Given the description of an element on the screen output the (x, y) to click on. 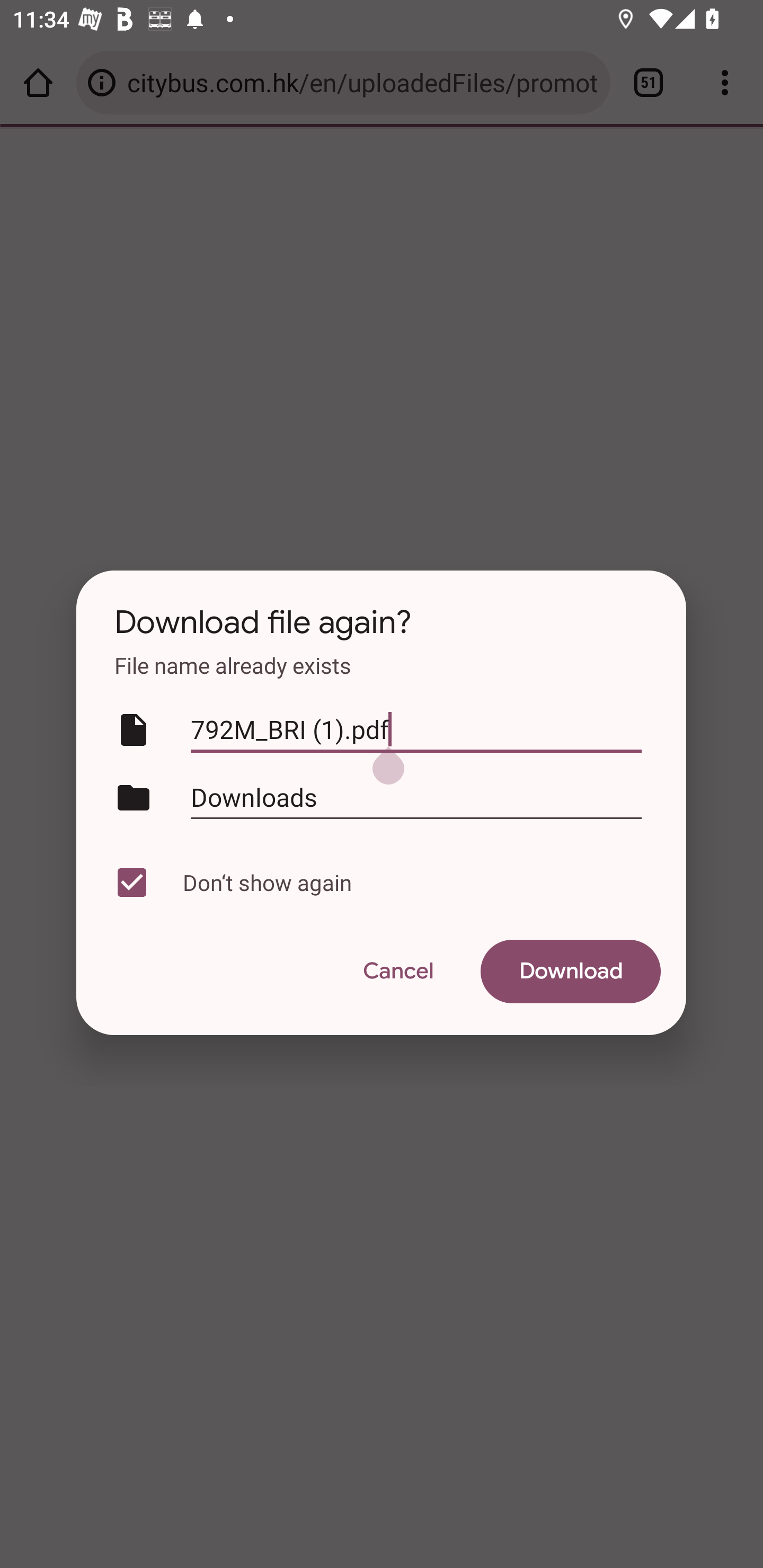
792M_BRI (1).pdf (415, 729)
Downloads (415, 797)
Don‘t show again (376, 882)
Cancel (397, 970)
Download (570, 970)
